Given the description of an element on the screen output the (x, y) to click on. 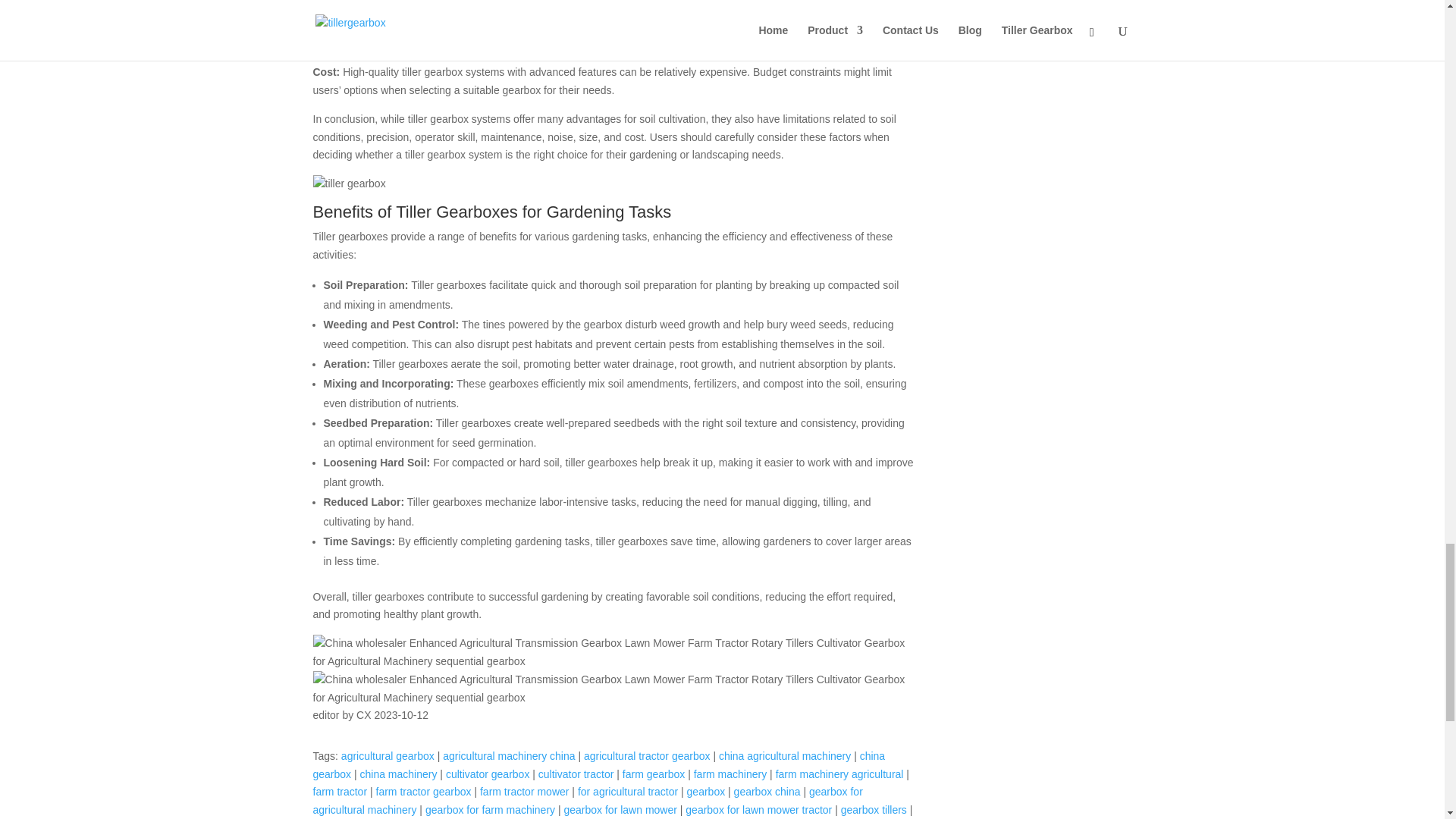
gearbox for lawn mower (620, 809)
gearbox china (766, 791)
china machinery (398, 774)
gearbox (706, 791)
agricultural machinery china (508, 756)
china agricultural machinery (784, 756)
cultivator tractor (576, 774)
farm machinery (730, 774)
for agricultural tractor (628, 791)
agricultural gearbox (386, 756)
